Given the description of an element on the screen output the (x, y) to click on. 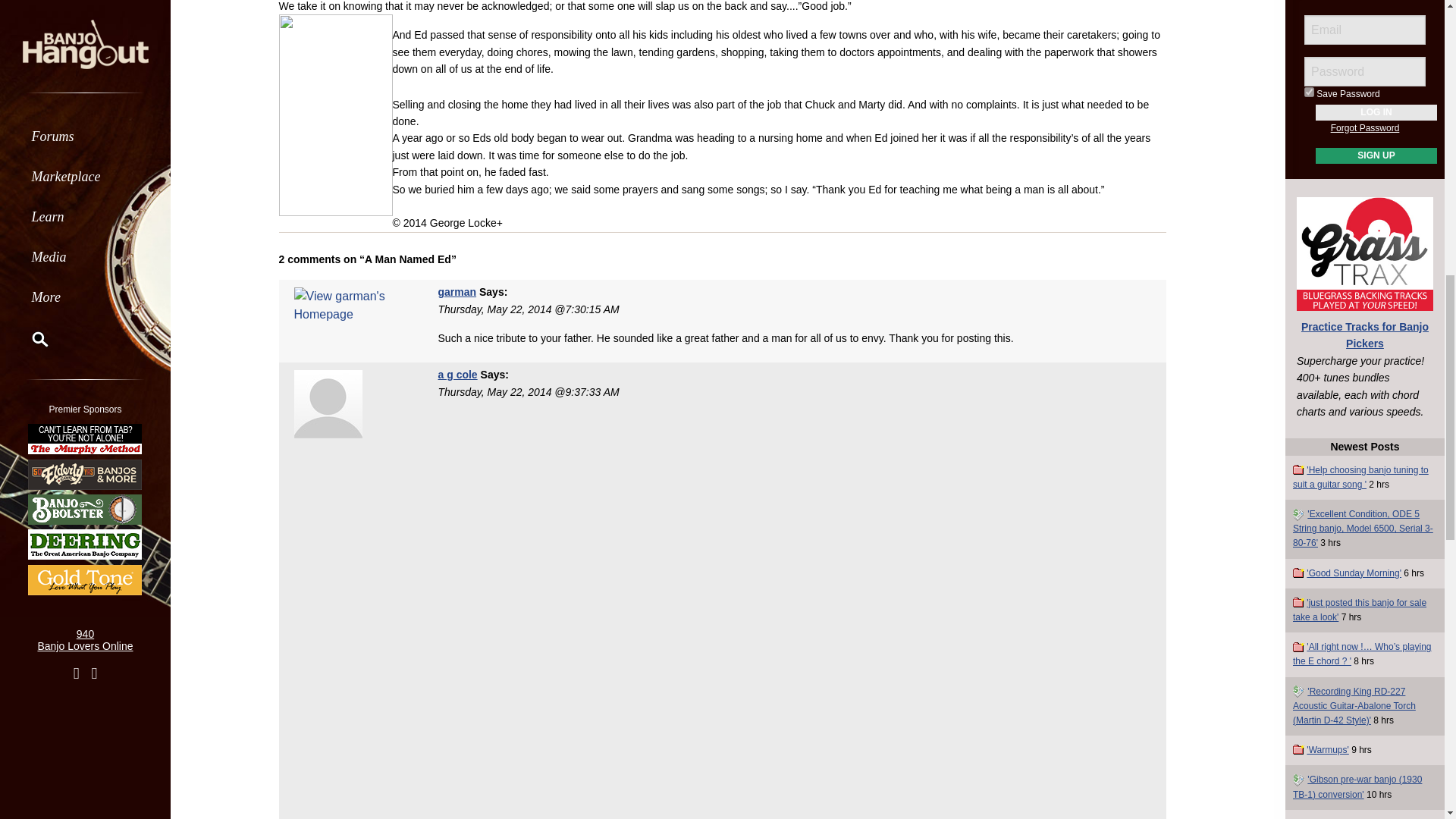
View a g cole's Homepage (457, 374)
View a g cole's Homepage (328, 404)
View garman's Homepage (354, 305)
View garman's Homepage (457, 291)
